Given the description of an element on the screen output the (x, y) to click on. 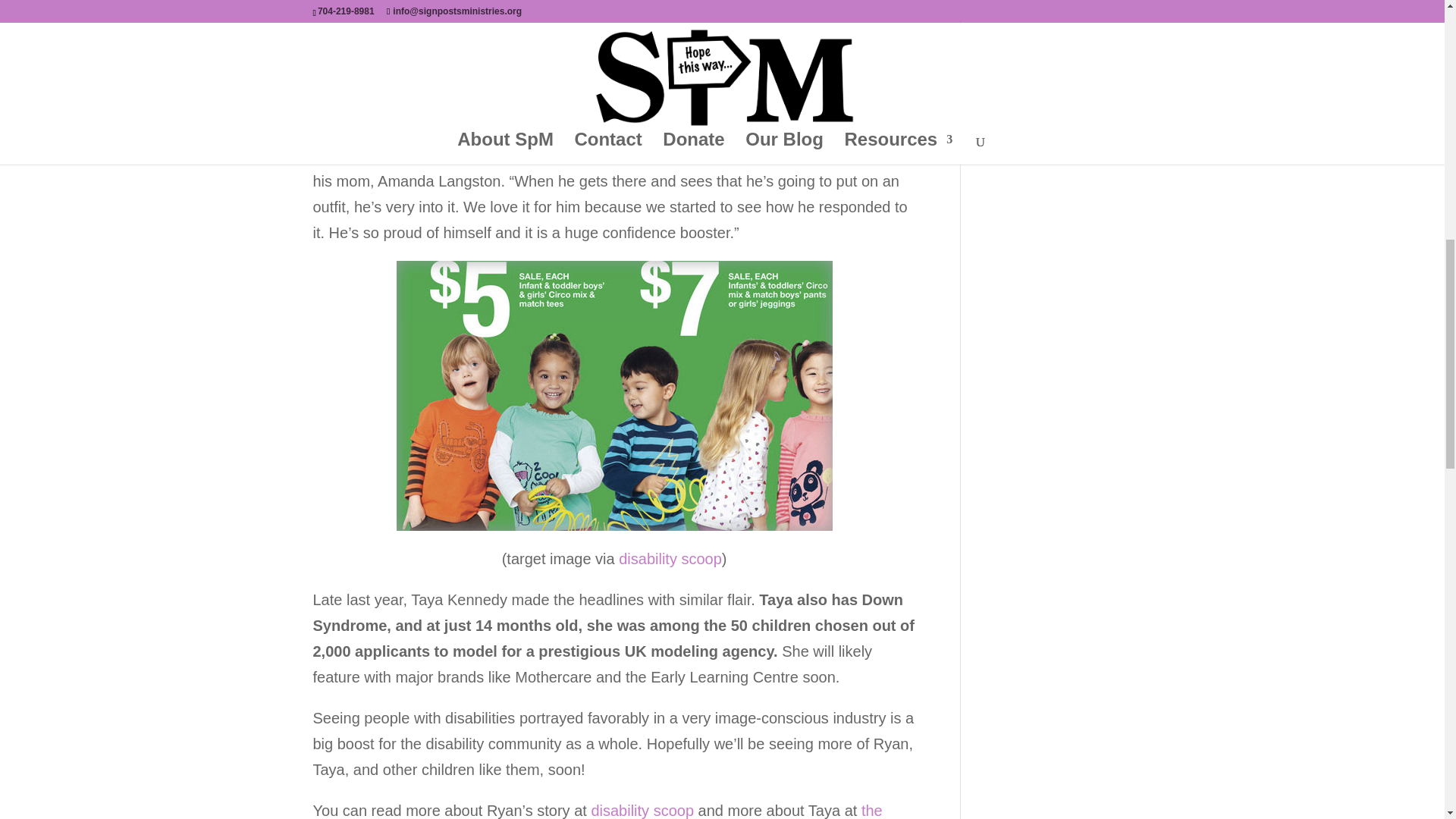
disability scoop (670, 558)
the Daily Mail (597, 810)
disability scoop (642, 810)
